Given the description of an element on the screen output the (x, y) to click on. 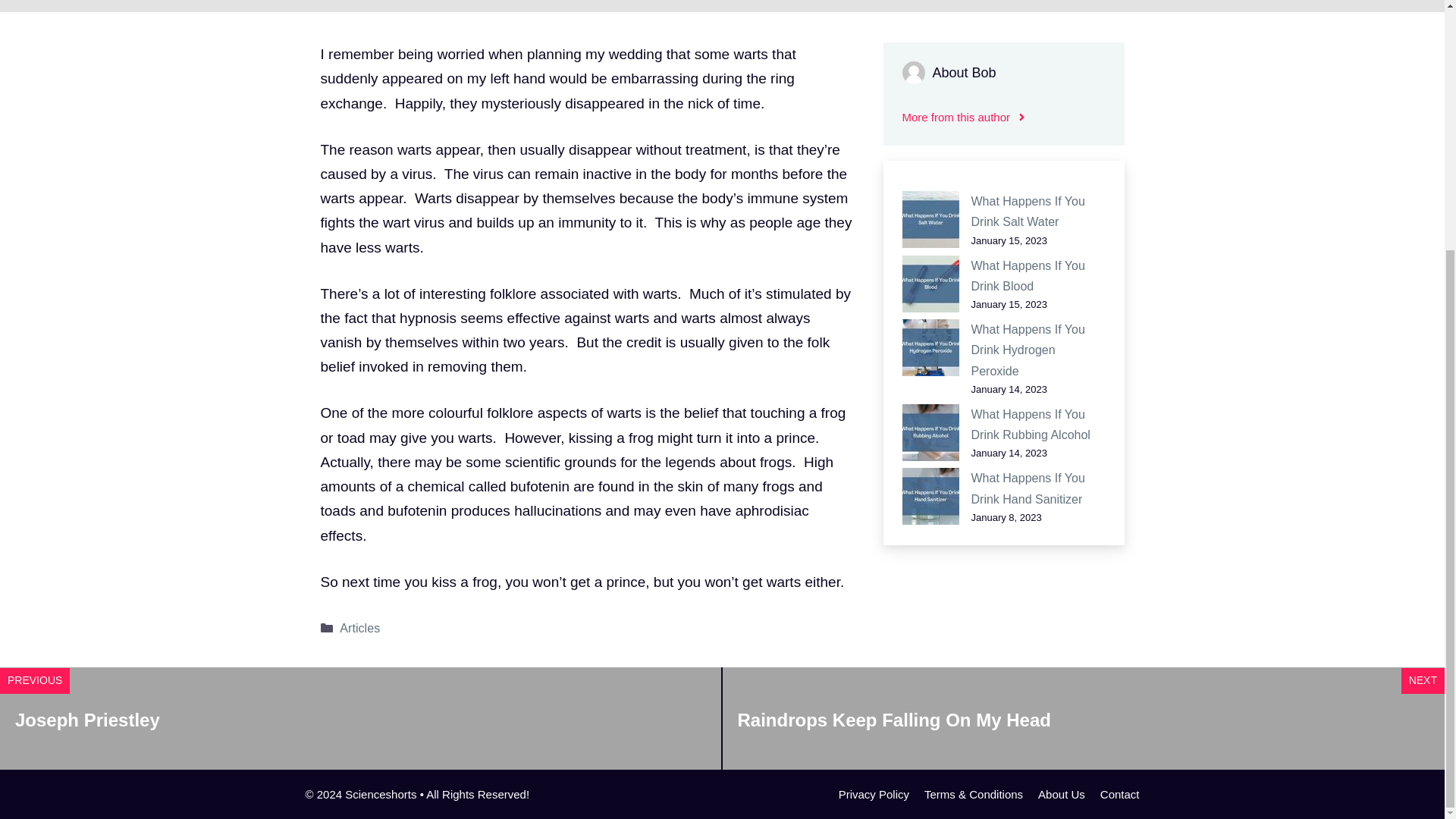
Contact (1120, 793)
What Happens If You Drink Blood (1027, 275)
What Happens If You Drink Salt Water (1027, 211)
Articles (359, 627)
About Us (1061, 793)
What Happens If You Drink Hand Sanitizer (1027, 488)
Raindrops Keep Falling On My Head (892, 720)
Joseph Priestley (87, 720)
What Happens If You Drink Blood 2 (930, 283)
Privacy Policy (873, 793)
